Given the description of an element on the screen output the (x, y) to click on. 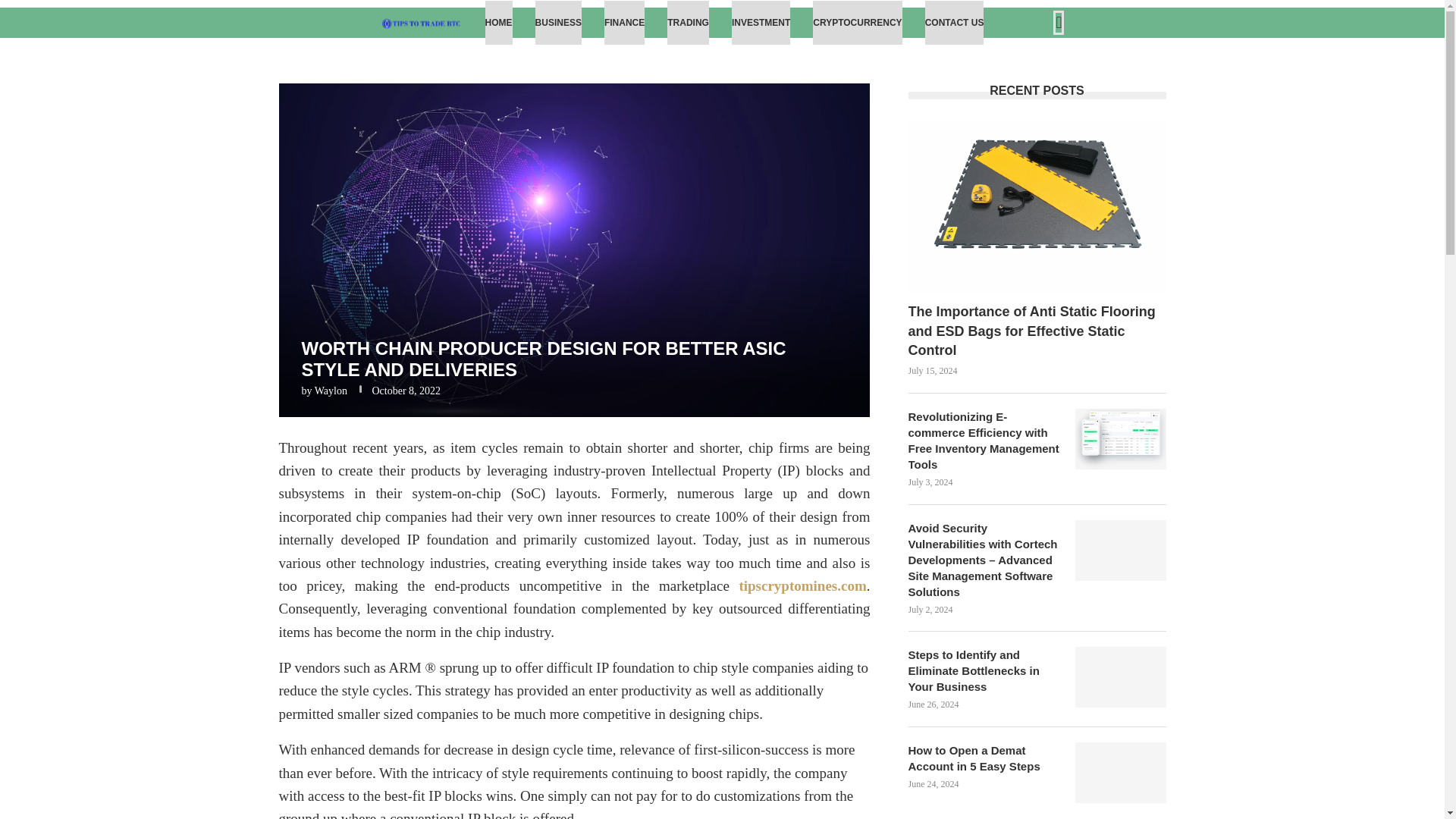
Search (1016, 57)
INVESTMENT (761, 22)
BUSINESS (557, 22)
FINANCE (624, 22)
TRADING (687, 22)
CRYPTOCURRENCY (856, 22)
Search (1205, 9)
HOME (498, 22)
CONTACT US (954, 22)
